Given the description of an element on the screen output the (x, y) to click on. 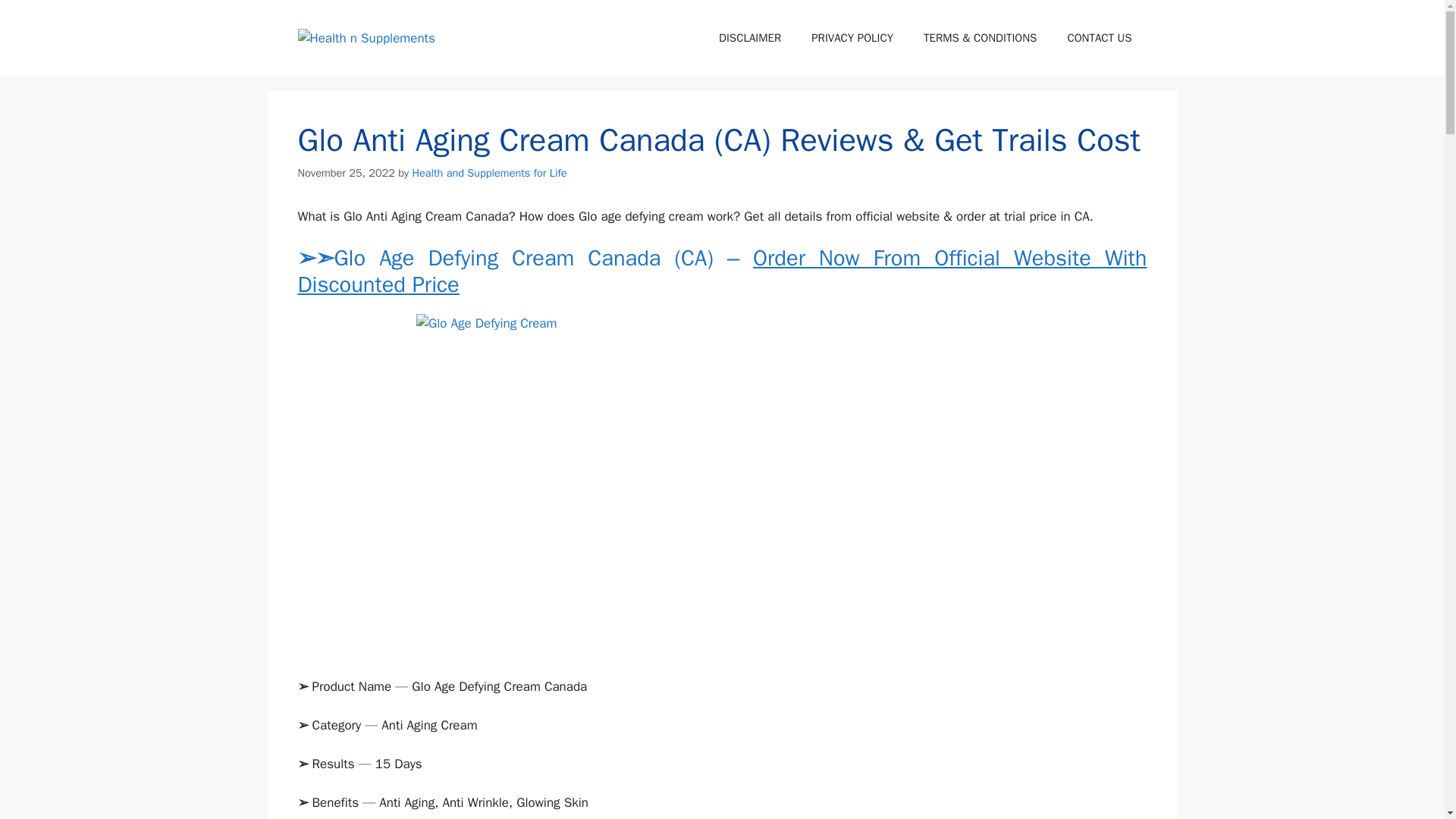
PRIVACY POLICY (852, 37)
Health and Supplements for Life (489, 172)
DISCLAIMER (749, 37)
CONTACT US (1099, 37)
View all posts by Health and Supplements for Life (489, 172)
